Given the description of an element on the screen output the (x, y) to click on. 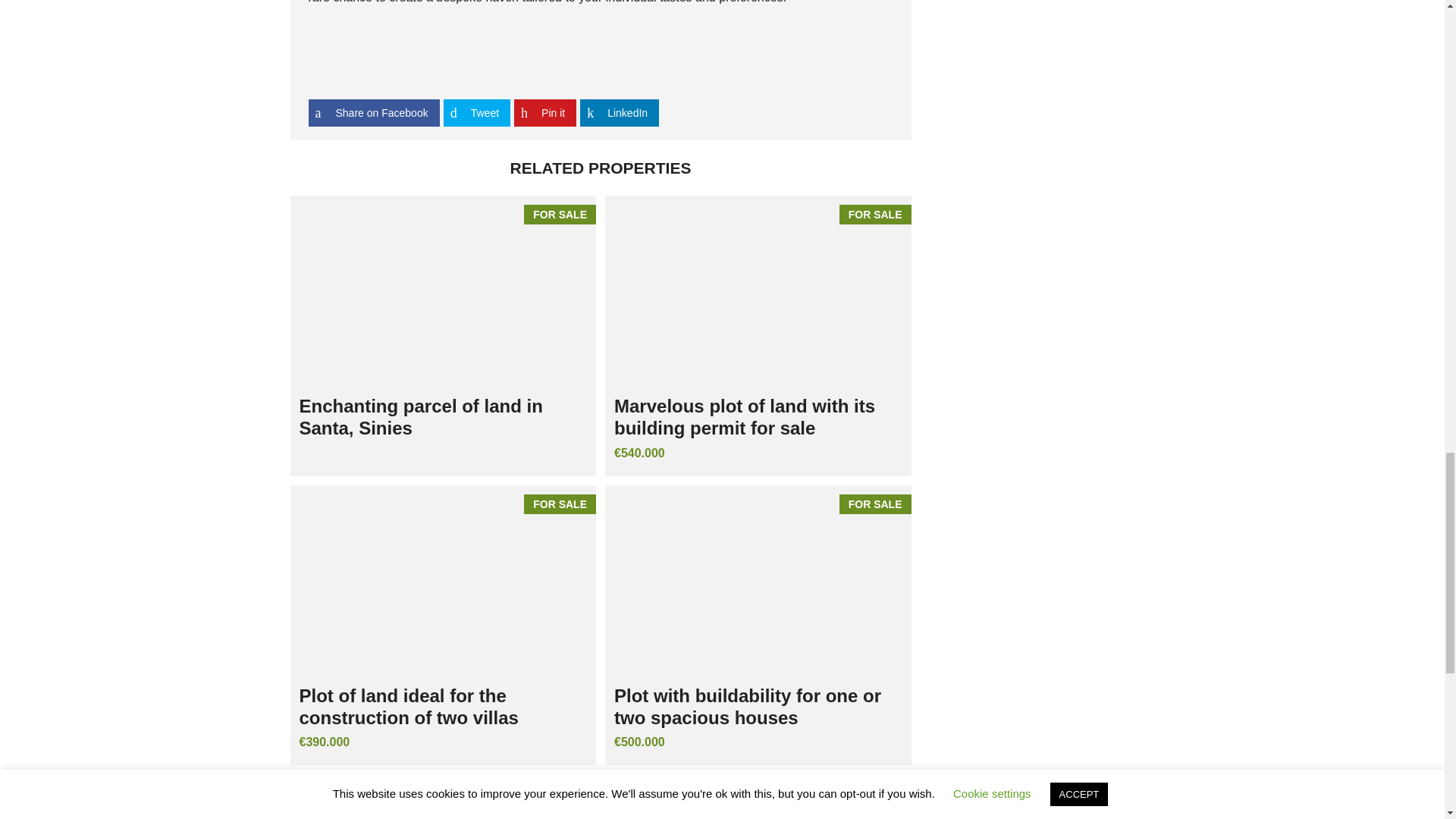
Share on LinkedIn (619, 112)
Share on Pin it (544, 112)
Share on Tweet (477, 112)
Enchanting parcel of land in Santa, Sinies (442, 290)
Share on Share on Facebook (373, 112)
